Given the description of an element on the screen output the (x, y) to click on. 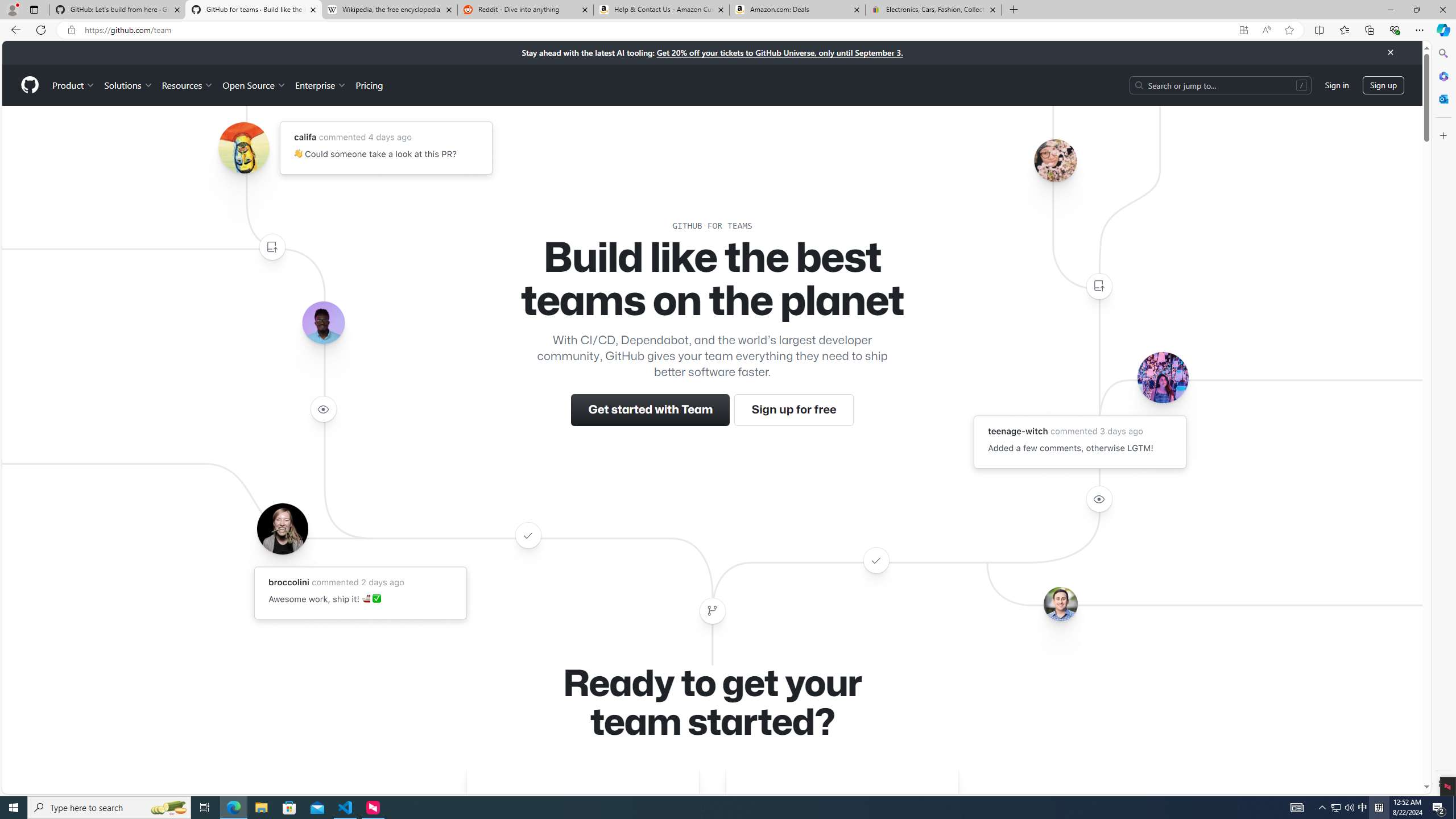
Avatar of the user teenage-witch (1162, 376)
Solutions (128, 84)
Class: color-fg-muted width-full (711, 610)
Avatar of the user benbalter (1059, 604)
